Given the description of an element on the screen output the (x, y) to click on. 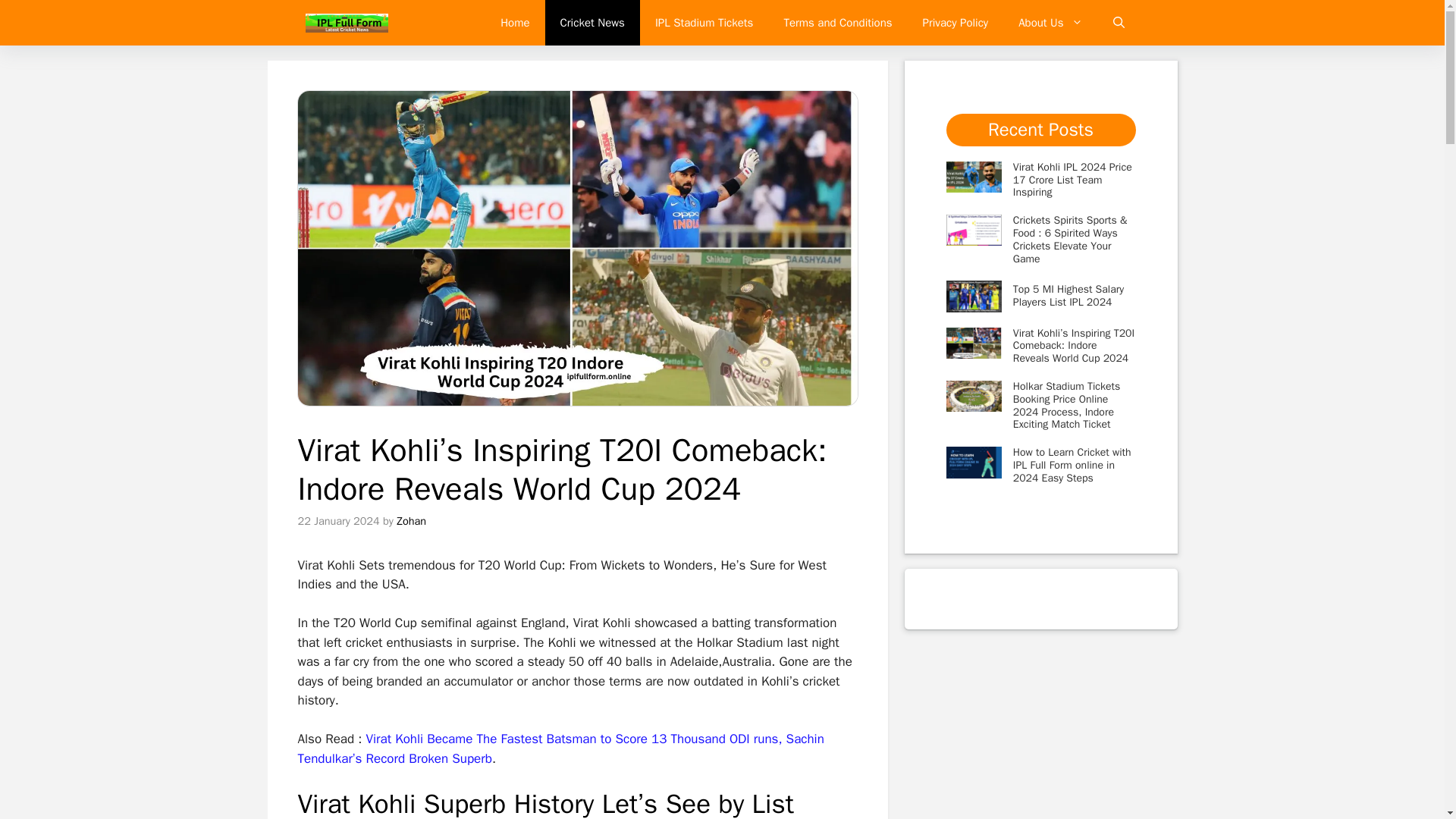
Cricket News (592, 22)
View all posts by Zohan (411, 520)
Home (514, 22)
About Us (1050, 22)
Zohan (411, 520)
Terms and Conditions (837, 22)
IPL Stadium Tickets (704, 22)
IPL Full Form (346, 22)
Privacy Policy (955, 22)
